Given the description of an element on the screen output the (x, y) to click on. 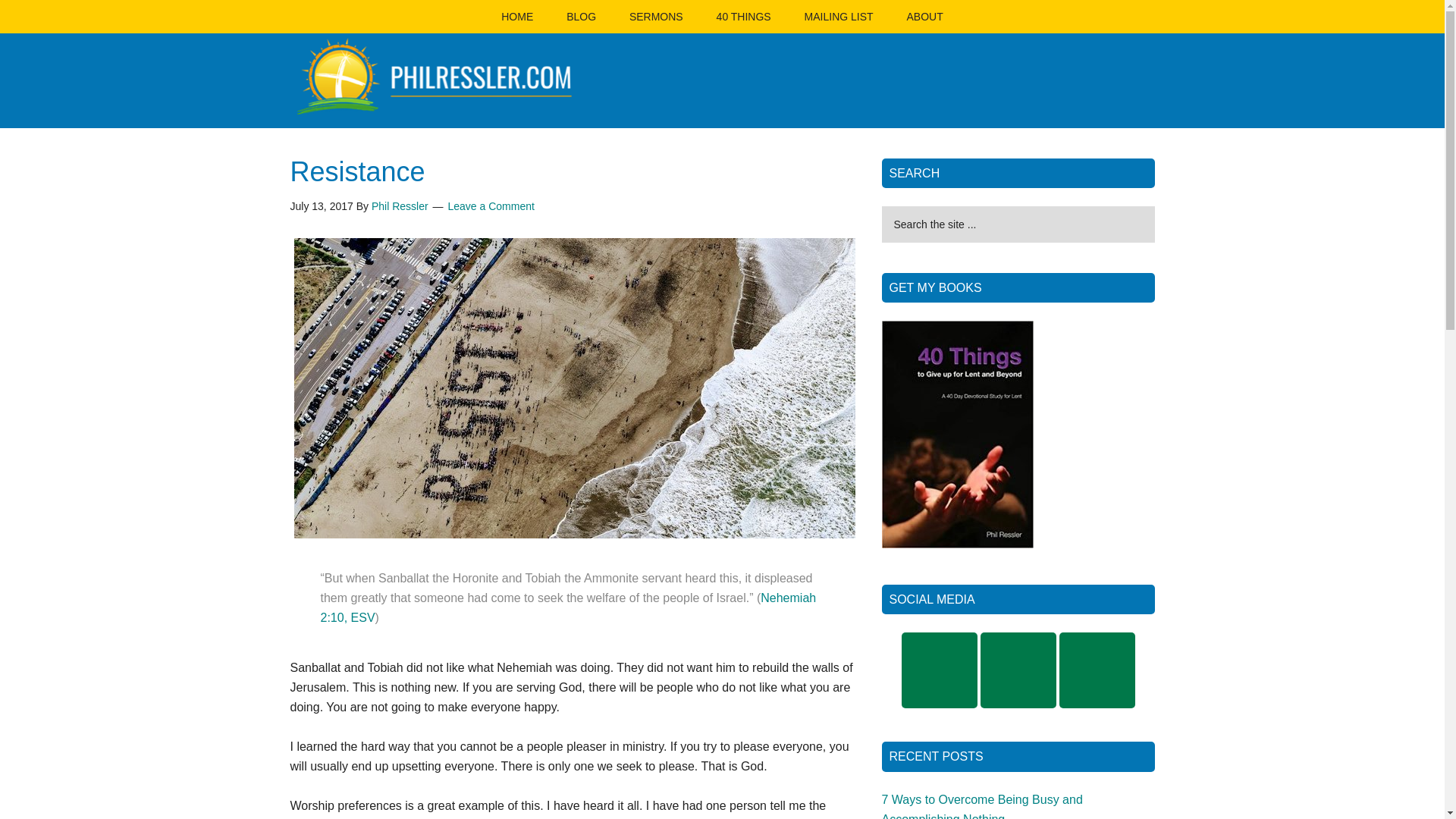
SERMONS (656, 16)
HOME (517, 16)
Nehemiah 2:10, ESV (567, 607)
7 Ways to Overcome Being Busy and Accomplishing Nothing (980, 806)
ABOUT (924, 16)
Leave a Comment (491, 205)
